Given the description of an element on the screen output the (x, y) to click on. 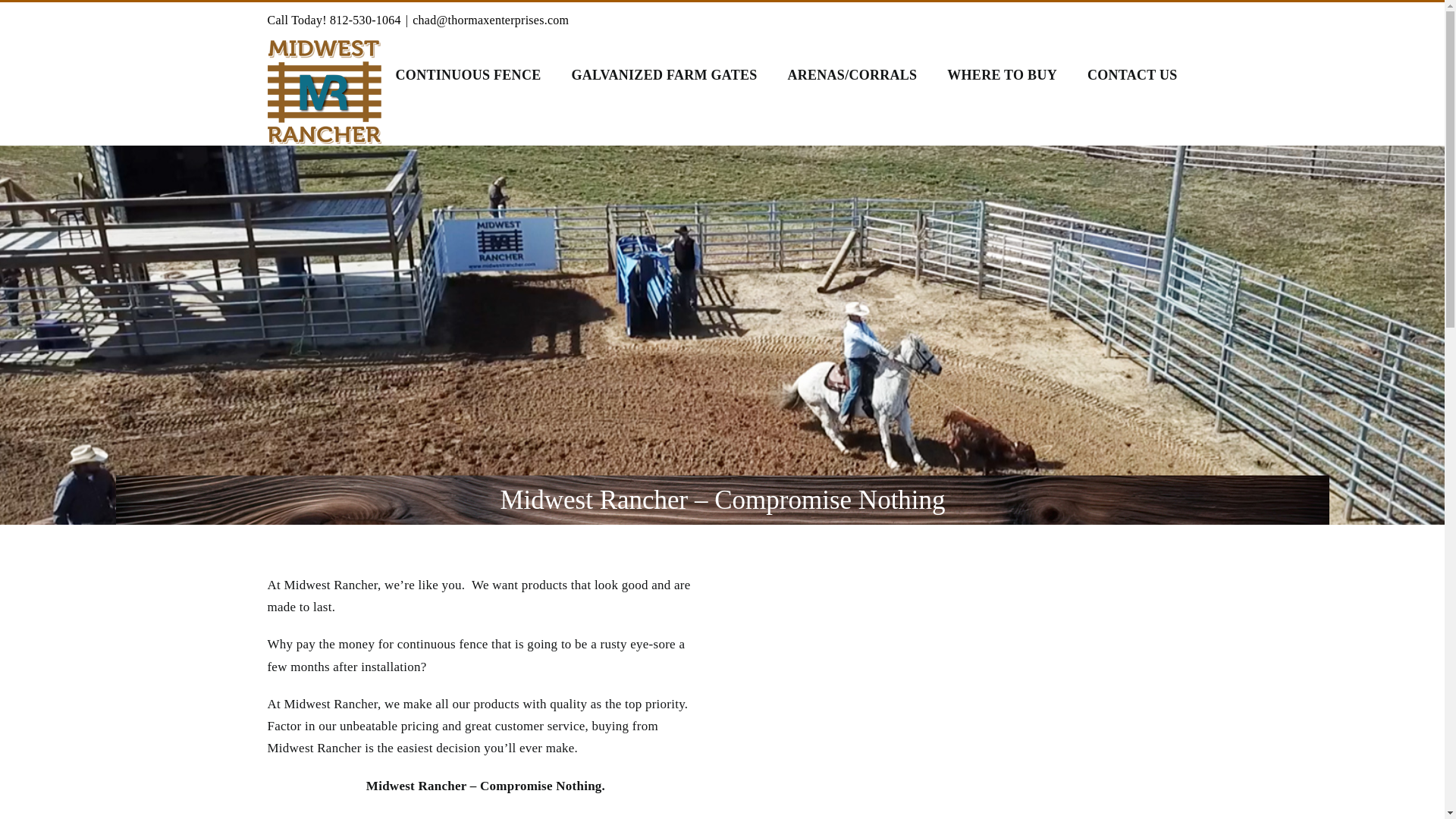
CONTINUOUS FENCE (468, 74)
WHERE TO BUY (1002, 74)
CONTACT US (1132, 74)
GALVANIZED FARM GATES (663, 74)
YouTube video player 1 (957, 674)
